Given the description of an element on the screen output the (x, y) to click on. 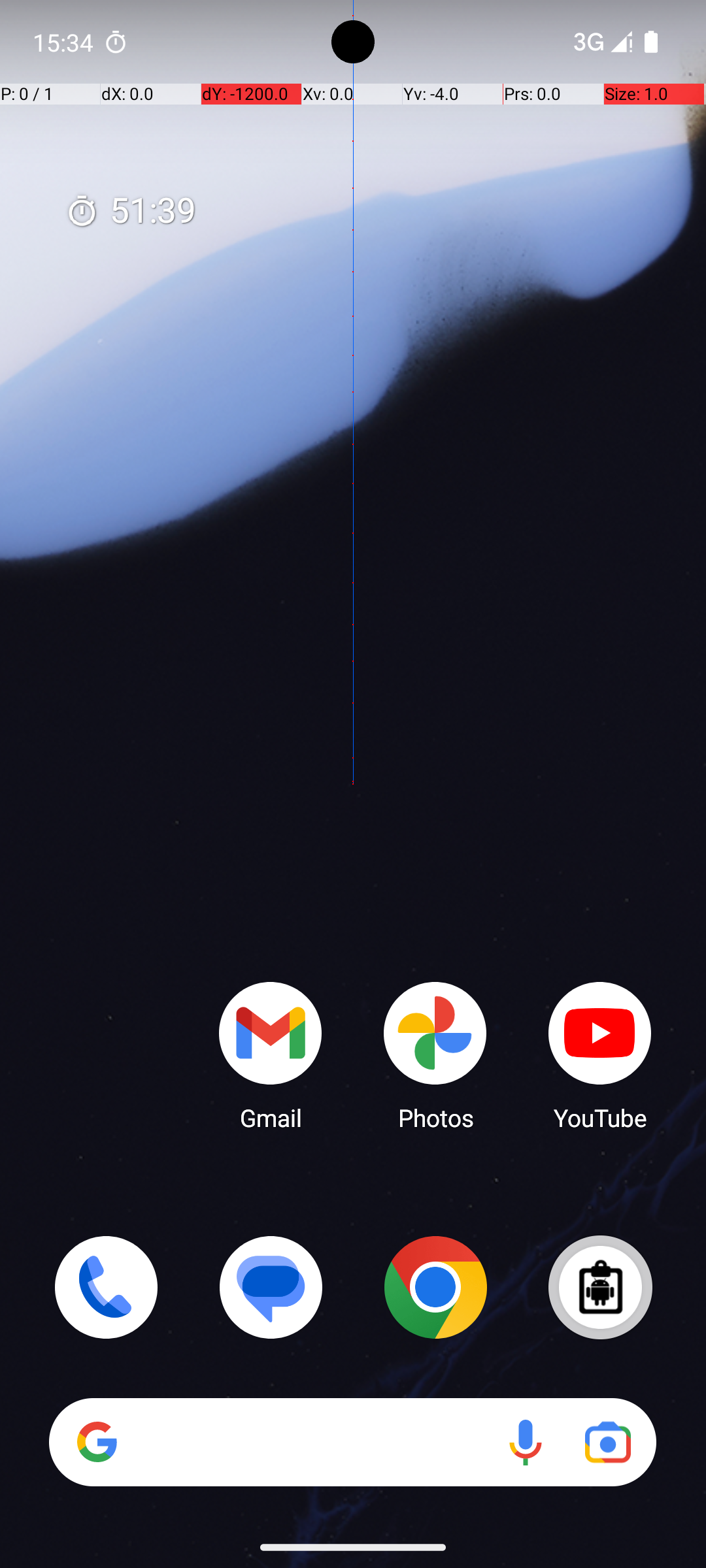
51:39 Element type: android.widget.TextView (130, 210)
